Given the description of an element on the screen output the (x, y) to click on. 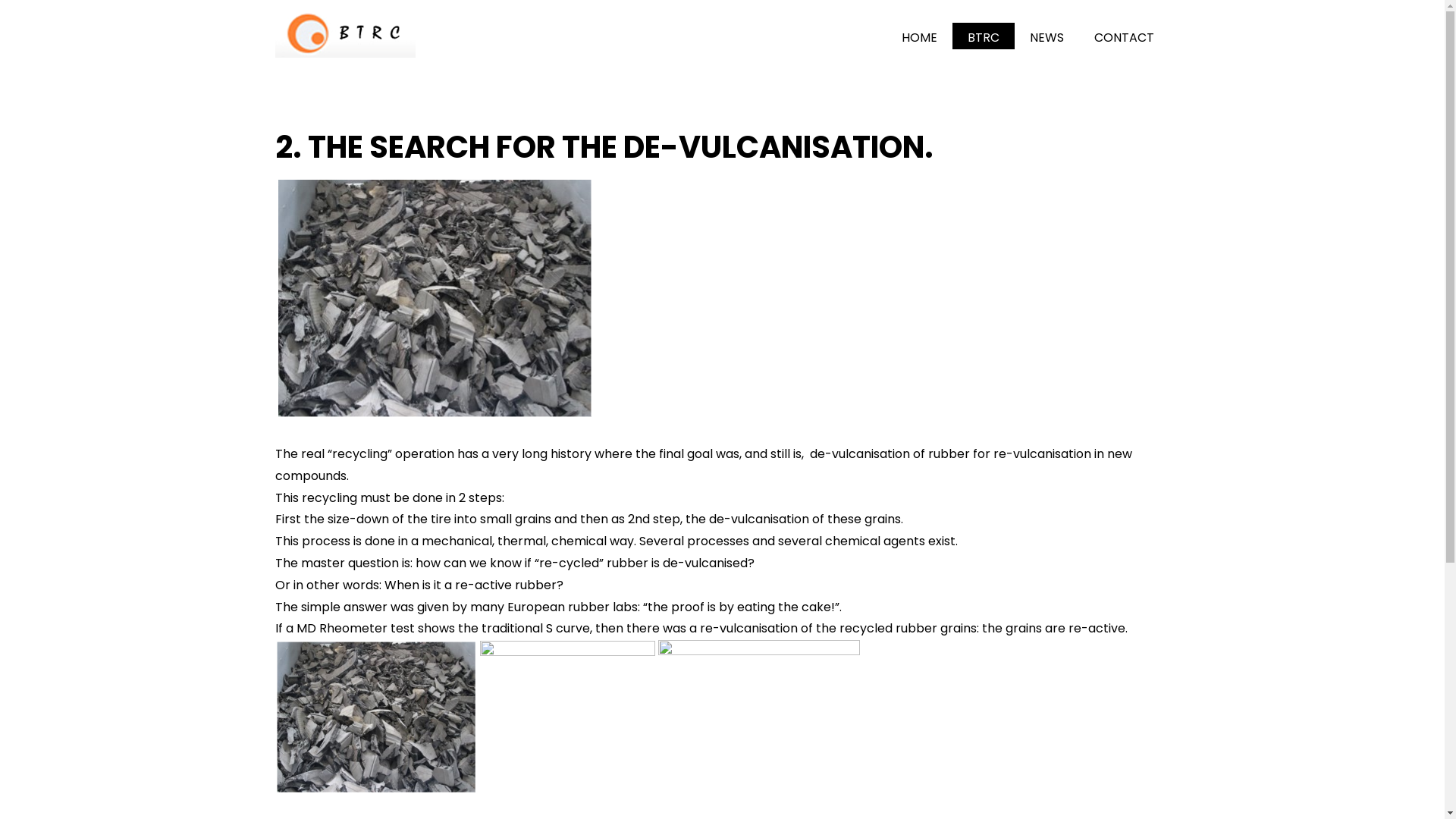
BTRC Element type: text (983, 35)
CONTACT Element type: text (1124, 35)
HOME Element type: text (919, 35)
NEWS Element type: text (1046, 35)
